Given the description of an element on the screen output the (x, y) to click on. 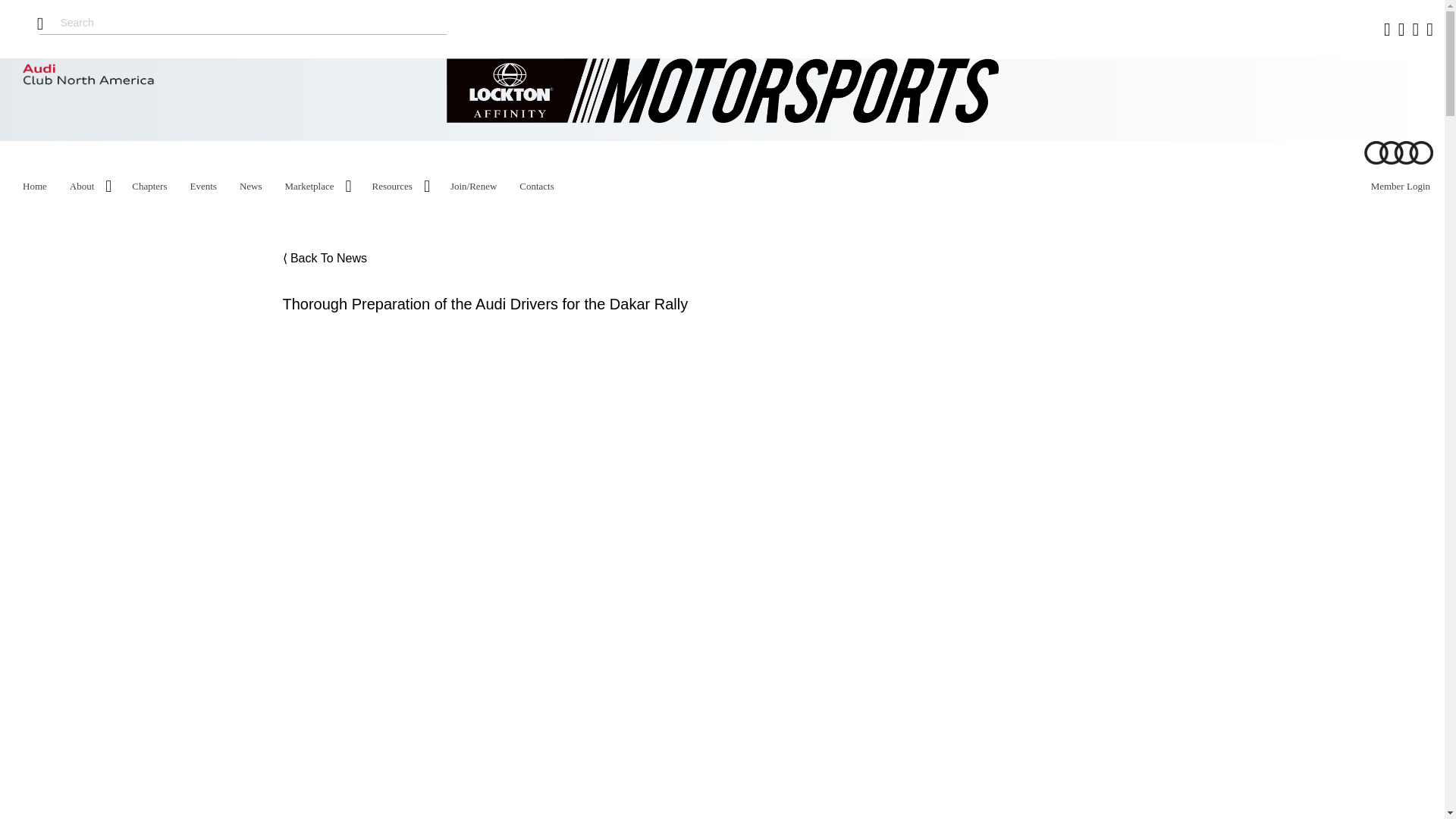
Marketplace (309, 186)
About (82, 186)
News (250, 186)
Events (203, 186)
Home (34, 186)
Resources (391, 186)
Chapters (148, 186)
